Given the description of an element on the screen output the (x, y) to click on. 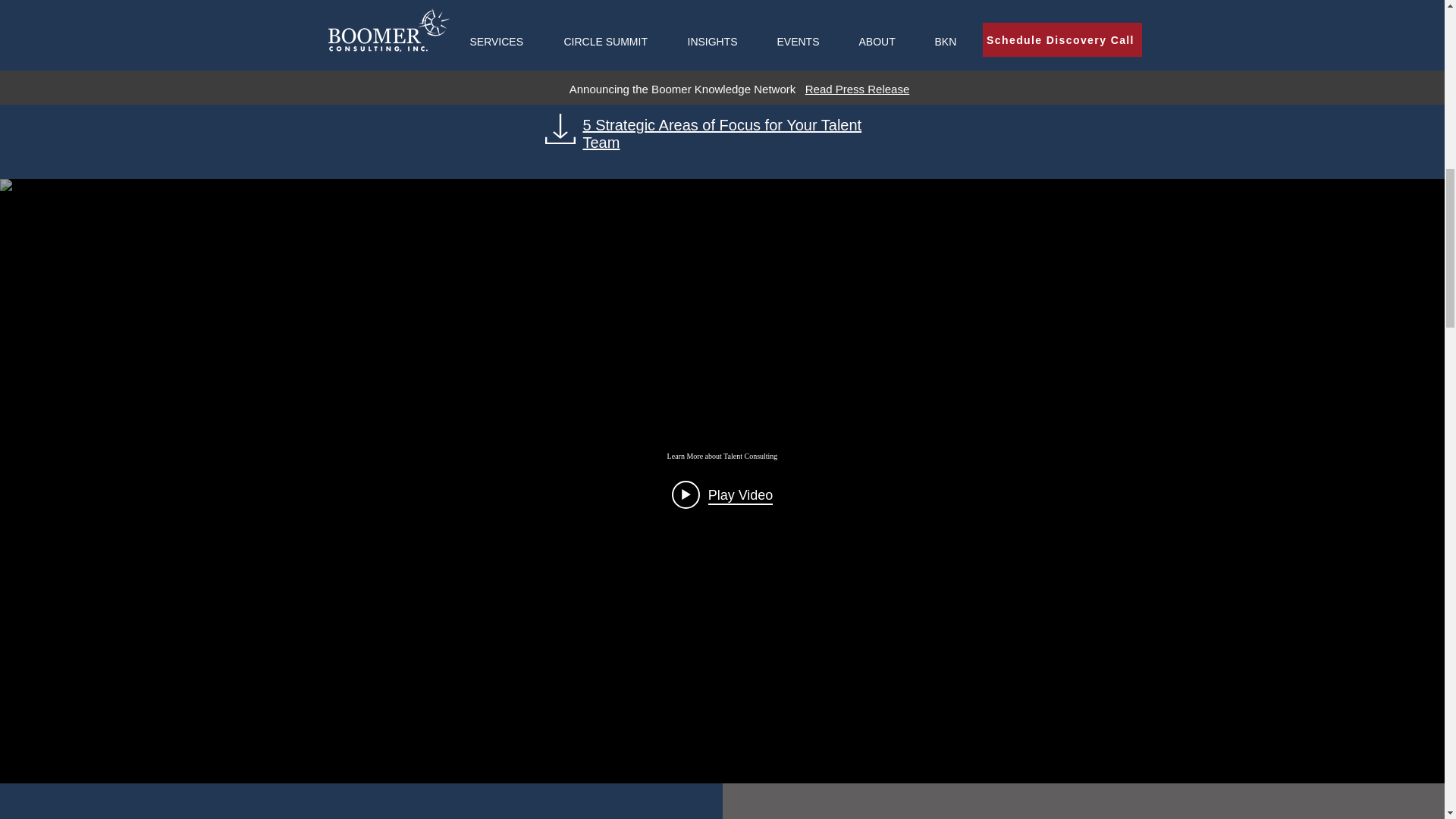
5 Strategic Areas of Focus for Your Talent Team (721, 133)
Learn More about Talent Consulting (721, 456)
Play Video (722, 494)
Schedule Discovery Call (722, 82)
